Given the description of an element on the screen output the (x, y) to click on. 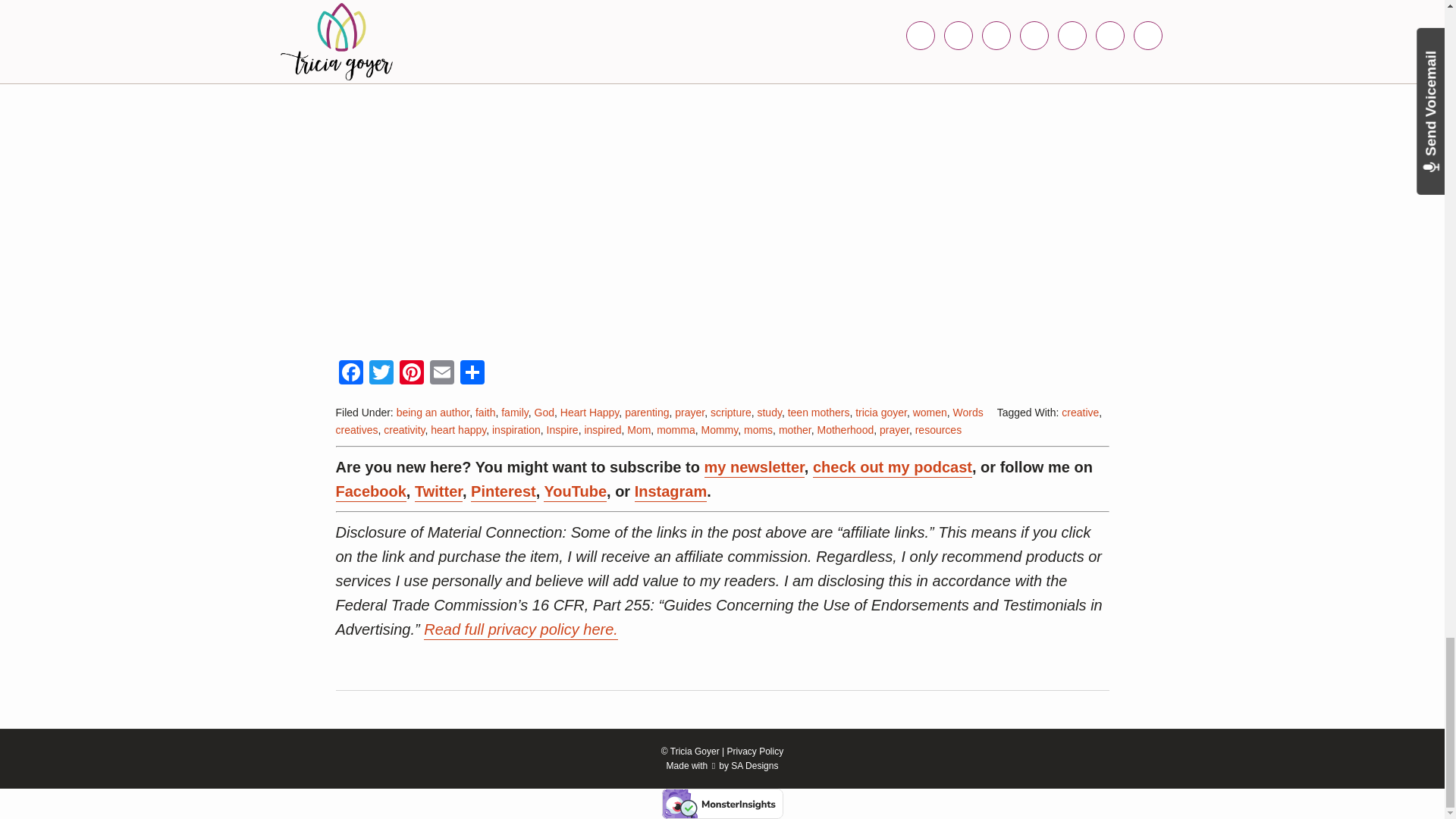
Email (441, 374)
Facebook (349, 374)
Facebook (349, 374)
Pinterest (411, 374)
Twitter (380, 374)
Twitter (380, 374)
